Given the description of an element on the screen output the (x, y) to click on. 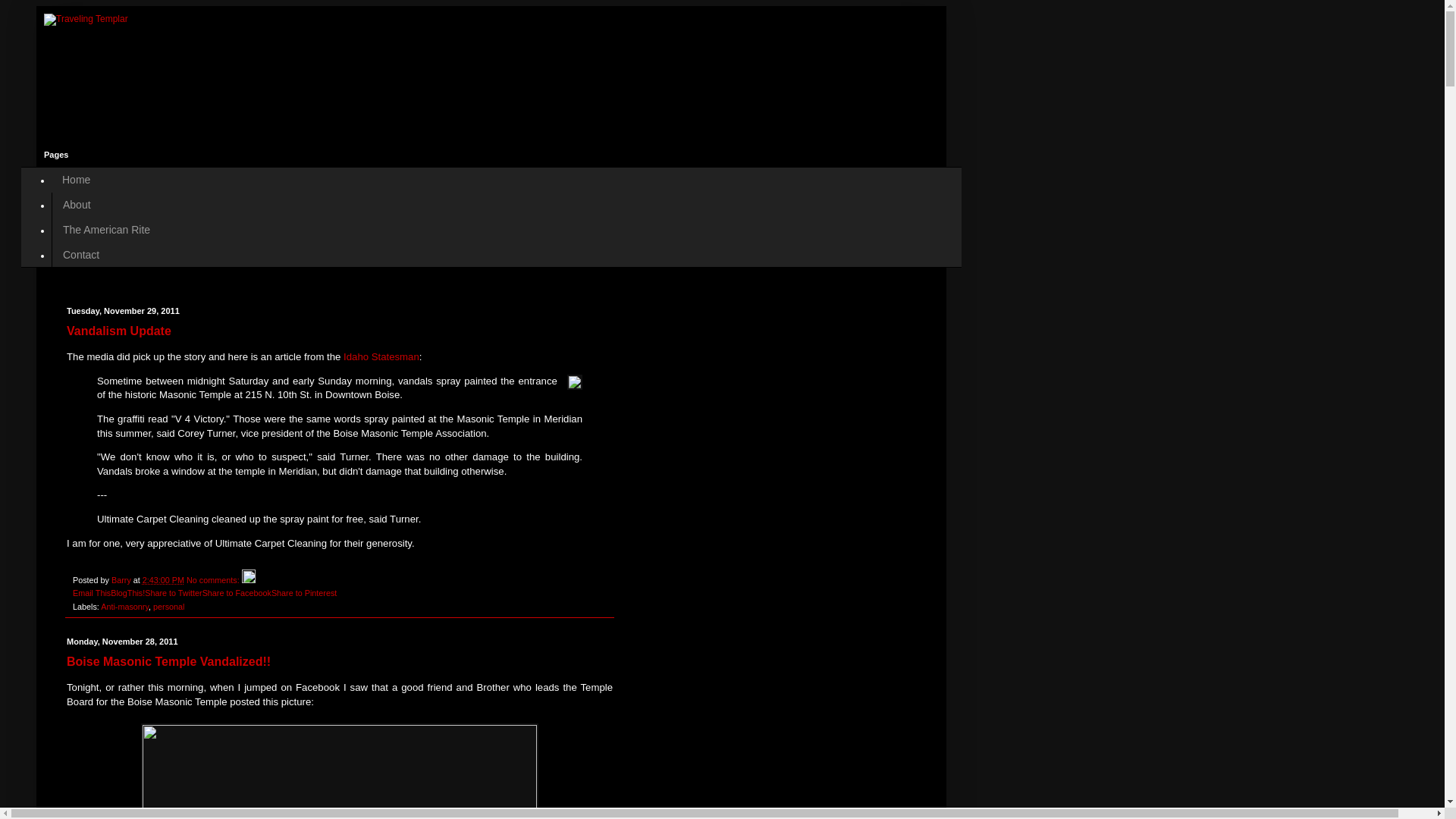
Share to Twitter (173, 592)
Share to Facebook (236, 592)
No comments: (213, 579)
Share to Facebook (236, 592)
Share to Pinterest (303, 592)
About (75, 204)
2:43:00 PM (163, 579)
Edit Post (248, 579)
permanent link (163, 579)
Vandalism Update (118, 330)
Email This (91, 592)
Anti-masonry (124, 605)
BlogThis! (127, 592)
Idaho Statesman (381, 356)
Boise Masonic Temple Vandalized!! (168, 661)
